Given the description of an element on the screen output the (x, y) to click on. 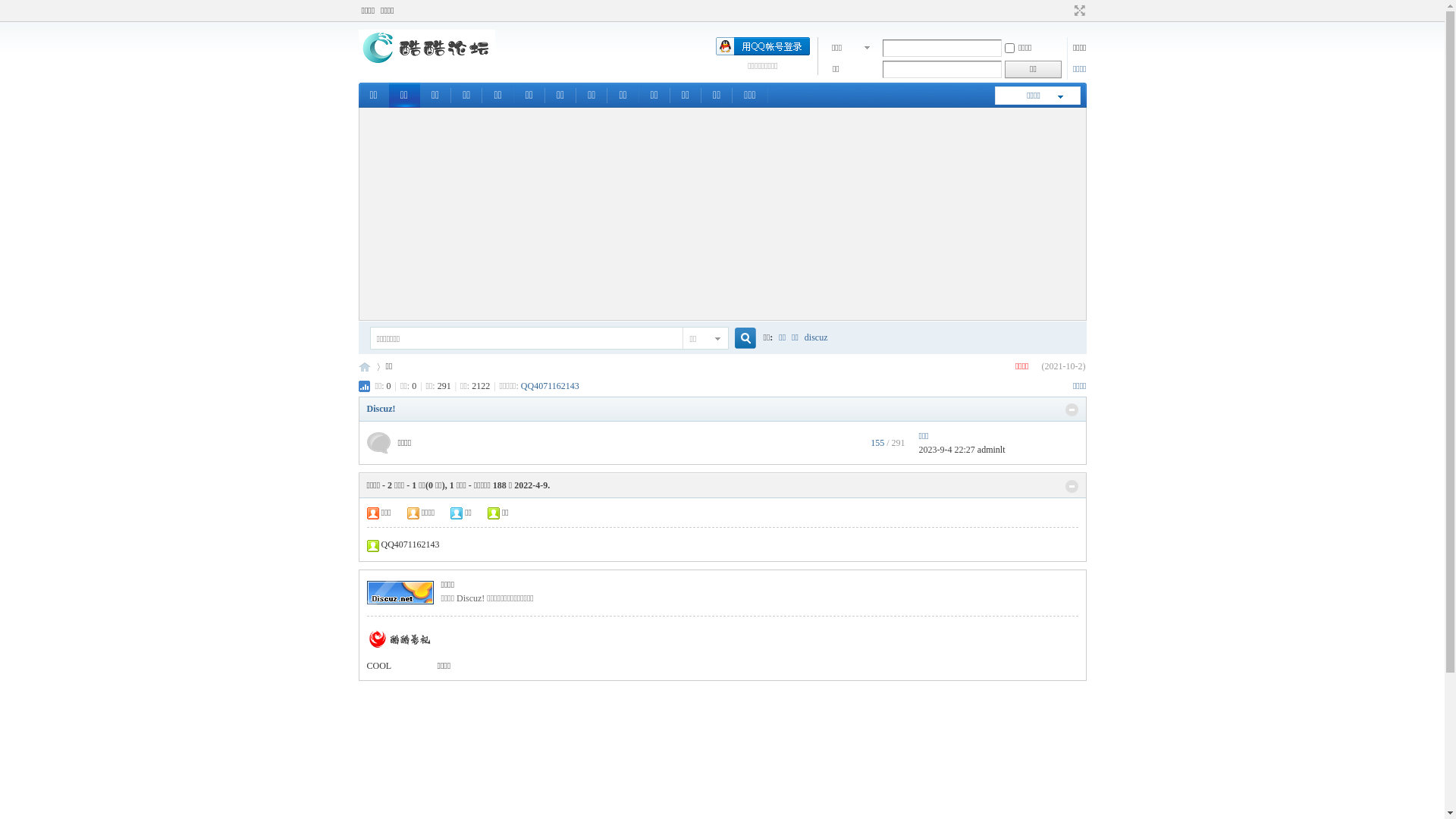
QQ4071162143 Element type: text (409, 544)
true Element type: text (738, 338)
discuz Element type: text (816, 337)
QQ4071162143 Element type: text (549, 385)
COOL Element type: hover (425, 64)
COOL Element type: text (363, 366)
Advertisement Element type: hover (722, 213)
Discuz! Element type: text (381, 408)
adminlt Element type: text (991, 449)
COOL Element type: text (379, 665)
